Given the description of an element on the screen output the (x, y) to click on. 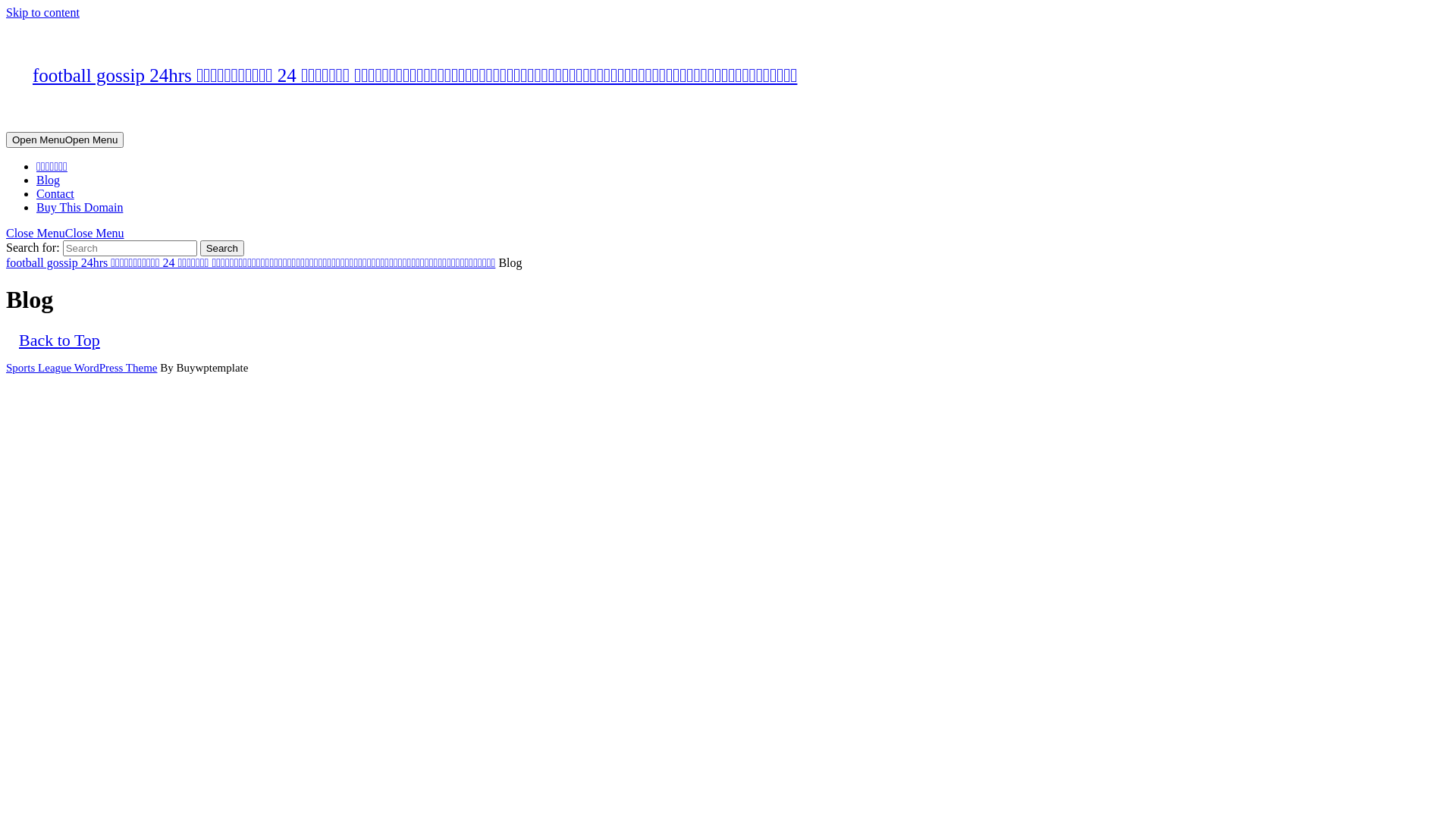
Search Element type: text (222, 248)
Sports League WordPress Theme Element type: text (81, 367)
Skip to content Element type: text (42, 12)
Buy This Domain Element type: text (79, 206)
Close MenuClose Menu Element type: text (65, 232)
Back to Top Element type: text (59, 339)
Open MenuOpen Menu Element type: text (64, 139)
Contact Element type: text (55, 193)
Blog Element type: text (47, 179)
